Given the description of an element on the screen output the (x, y) to click on. 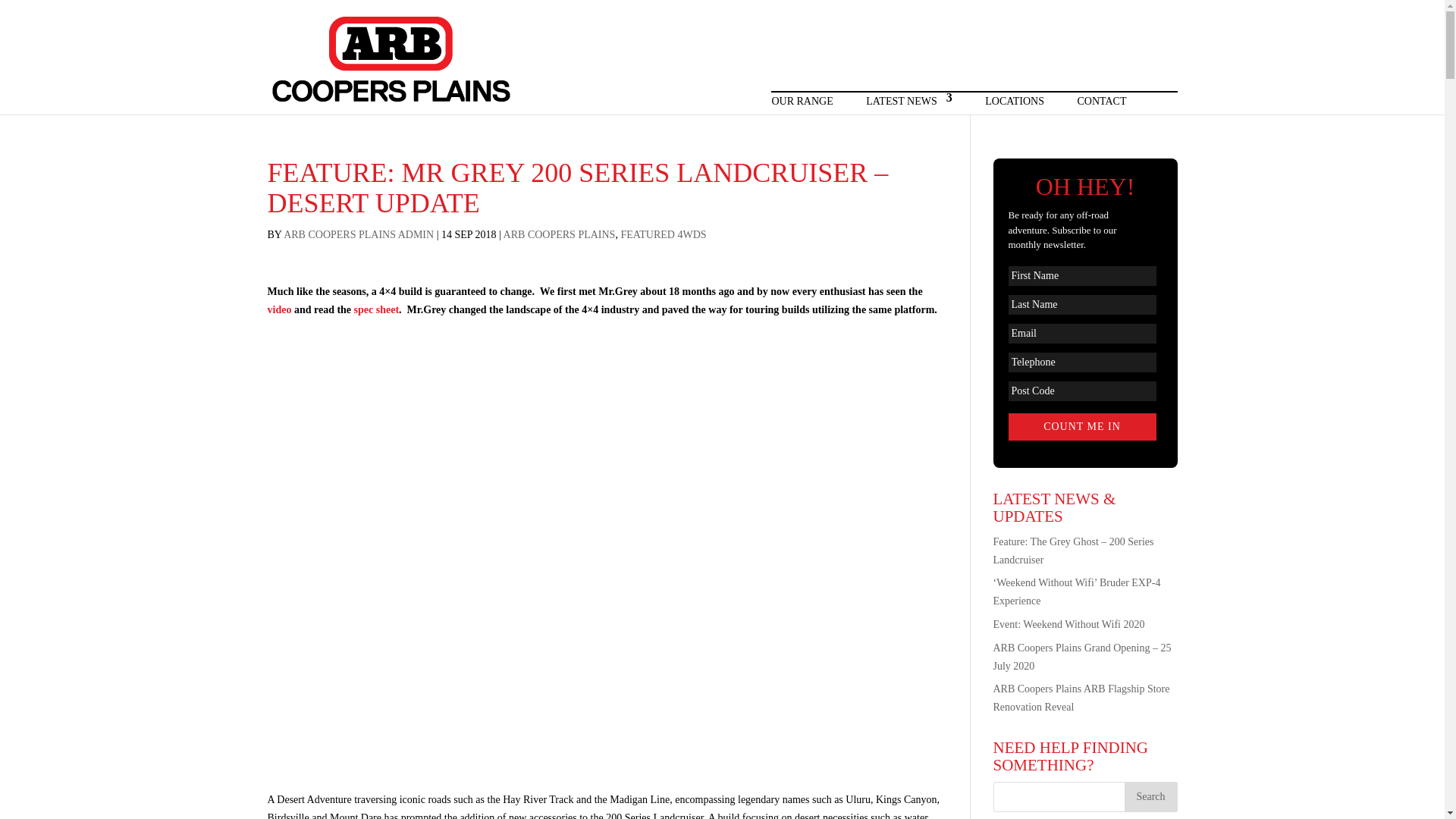
CONTACT (1101, 103)
spec sheet (375, 309)
ARB COOPERS PLAINS ADMIN (358, 234)
Count Me In (1082, 426)
Search (1150, 797)
Search (1150, 797)
ARB Coopers Plains ARB Flagship Store Renovation Reveal (1081, 697)
LATEST NEWS (909, 103)
Event: Weekend Without Wifi 2020 (1068, 624)
OUR RANGE (801, 103)
FEATURED 4WDS (663, 234)
Posts by ARB Coopers Plains Admin (358, 234)
ARB COOPERS PLAINS (559, 234)
Count Me In (1082, 426)
LOCATIONS (1014, 103)
